Given the description of an element on the screen output the (x, y) to click on. 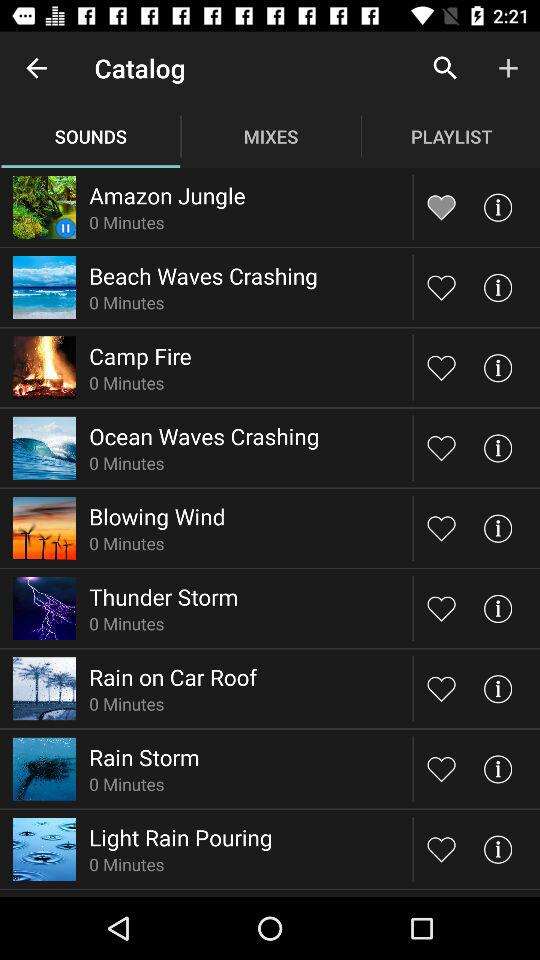
favorite track light rain pouring (441, 848)
